Given the description of an element on the screen output the (x, y) to click on. 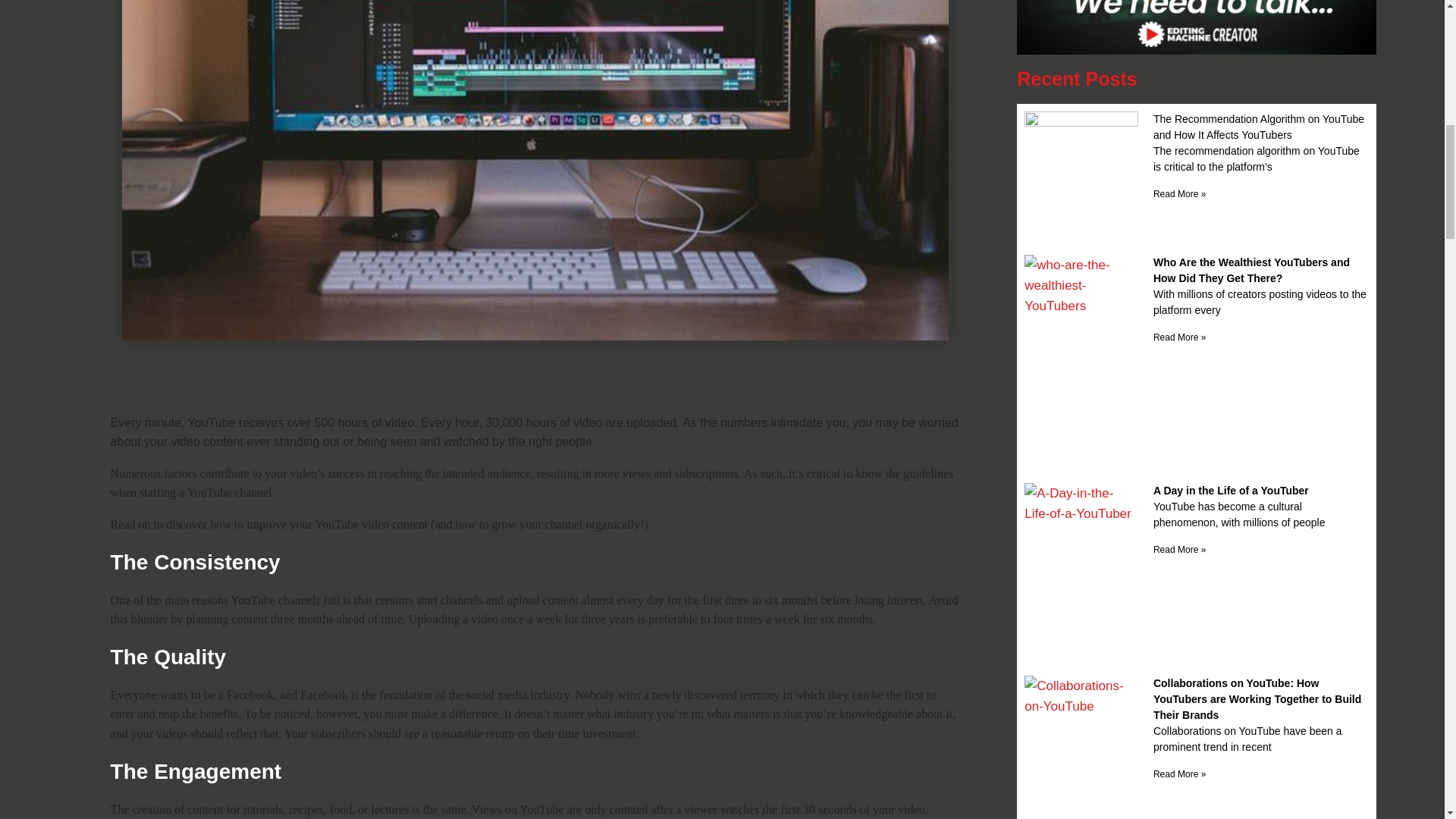
Who Are the Wealthiest YouTubers and How Did They Get There? (1251, 270)
A Day in the Life of a YouTuber (1230, 490)
